Given the description of an element on the screen output the (x, y) to click on. 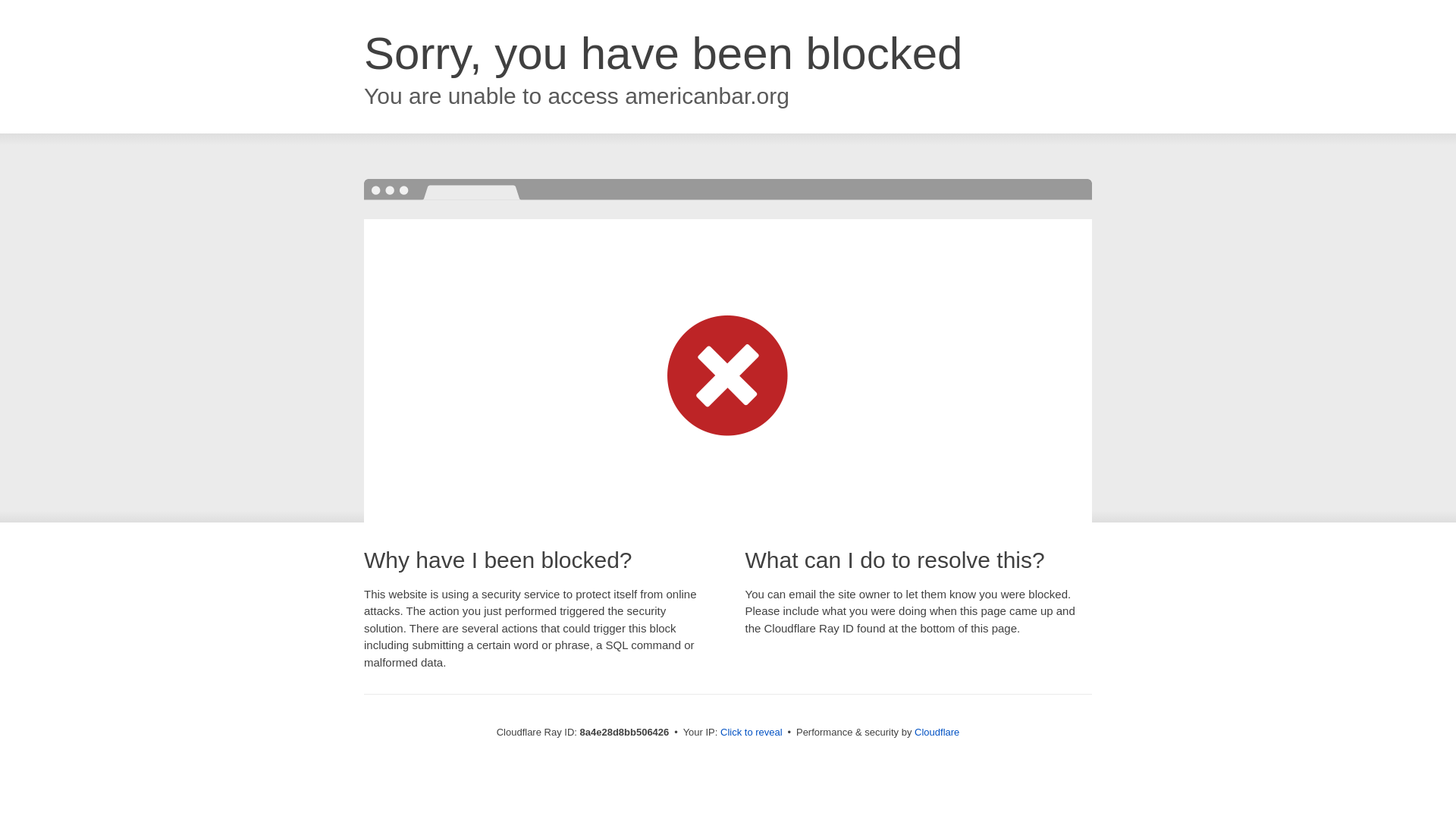
Cloudflare (936, 731)
Click to reveal (751, 732)
